Given the description of an element on the screen output the (x, y) to click on. 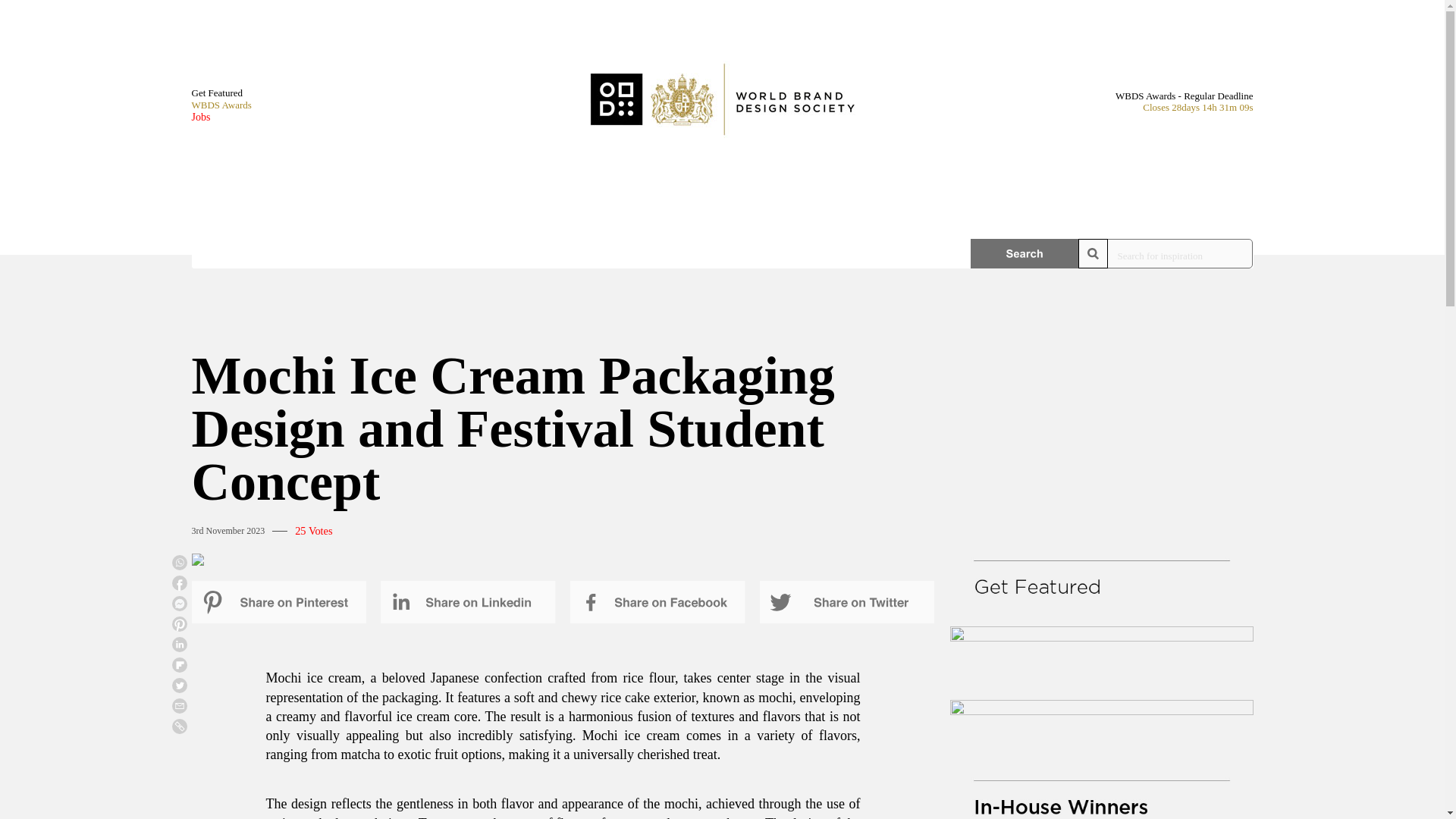
Search (1024, 253)
Search (1024, 253)
WBDS Awards (220, 104)
Get Featured (220, 92)
Jobs (220, 117)
